Given the description of an element on the screen output the (x, y) to click on. 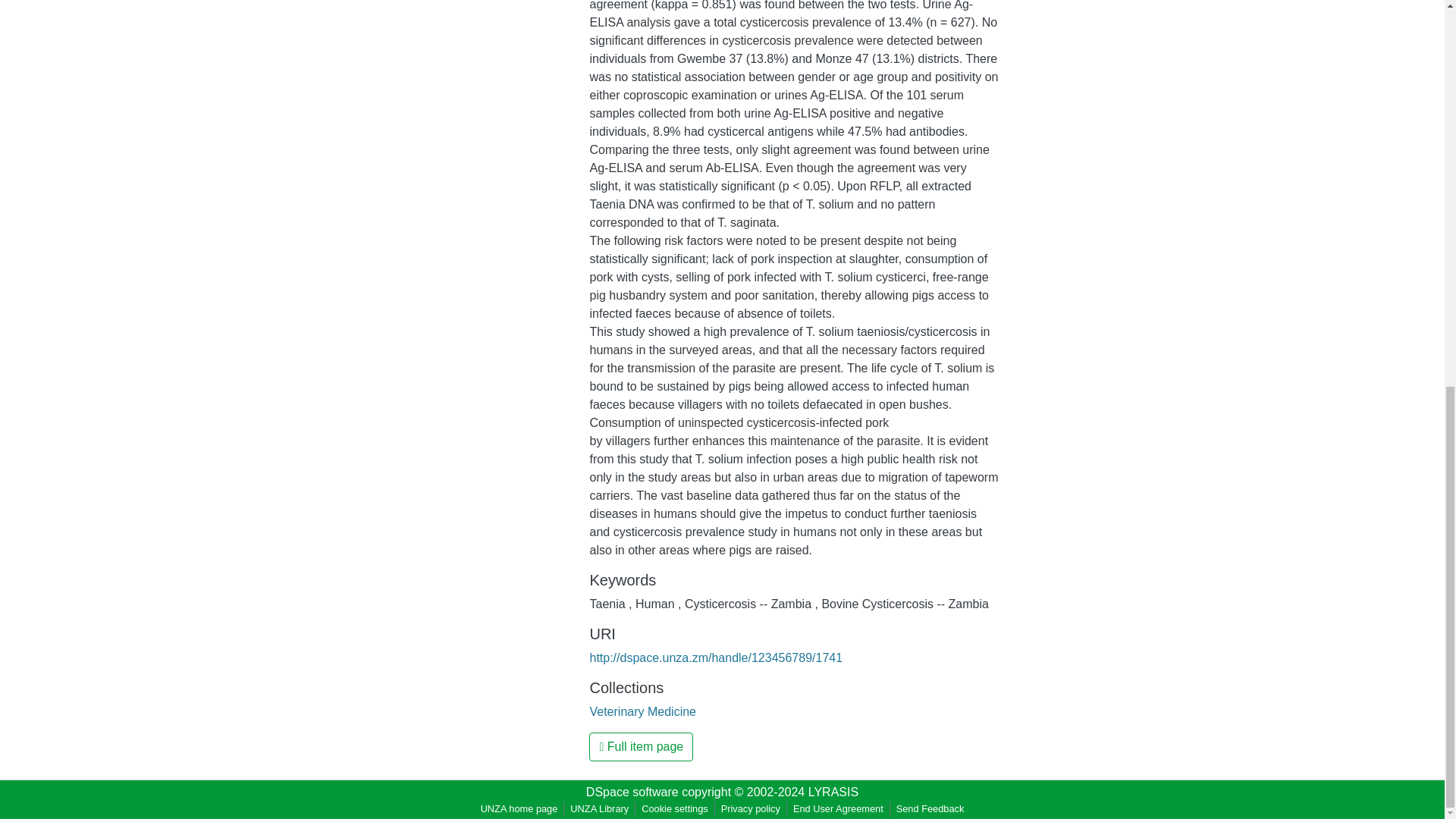
DSpace software (632, 791)
Full item page (641, 746)
End User Agreement (838, 808)
UNZA home page (519, 808)
Veterinary Medicine (642, 711)
Send Feedback (930, 808)
Privacy policy (750, 808)
Cookie settings (674, 808)
UNZA Library (599, 808)
LYRASIS (833, 791)
